Given the description of an element on the screen output the (x, y) to click on. 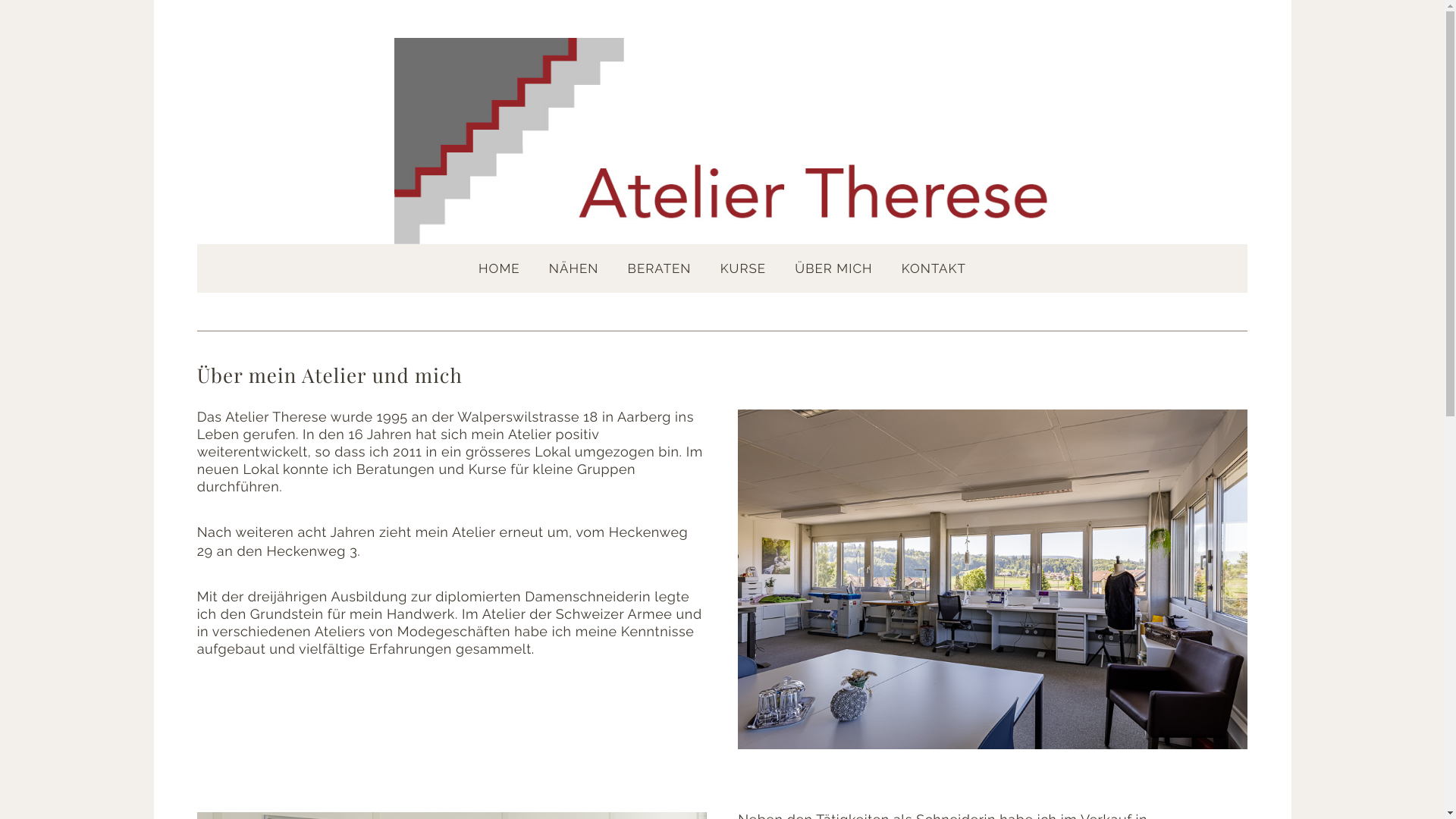
BERATEN Element type: text (659, 268)
KURSE Element type: text (743, 268)
HOME Element type: text (499, 268)
Atelier Therese Element type: hover (722, 140)
KONTAKT Element type: text (933, 268)
